Given the description of an element on the screen output the (x, y) to click on. 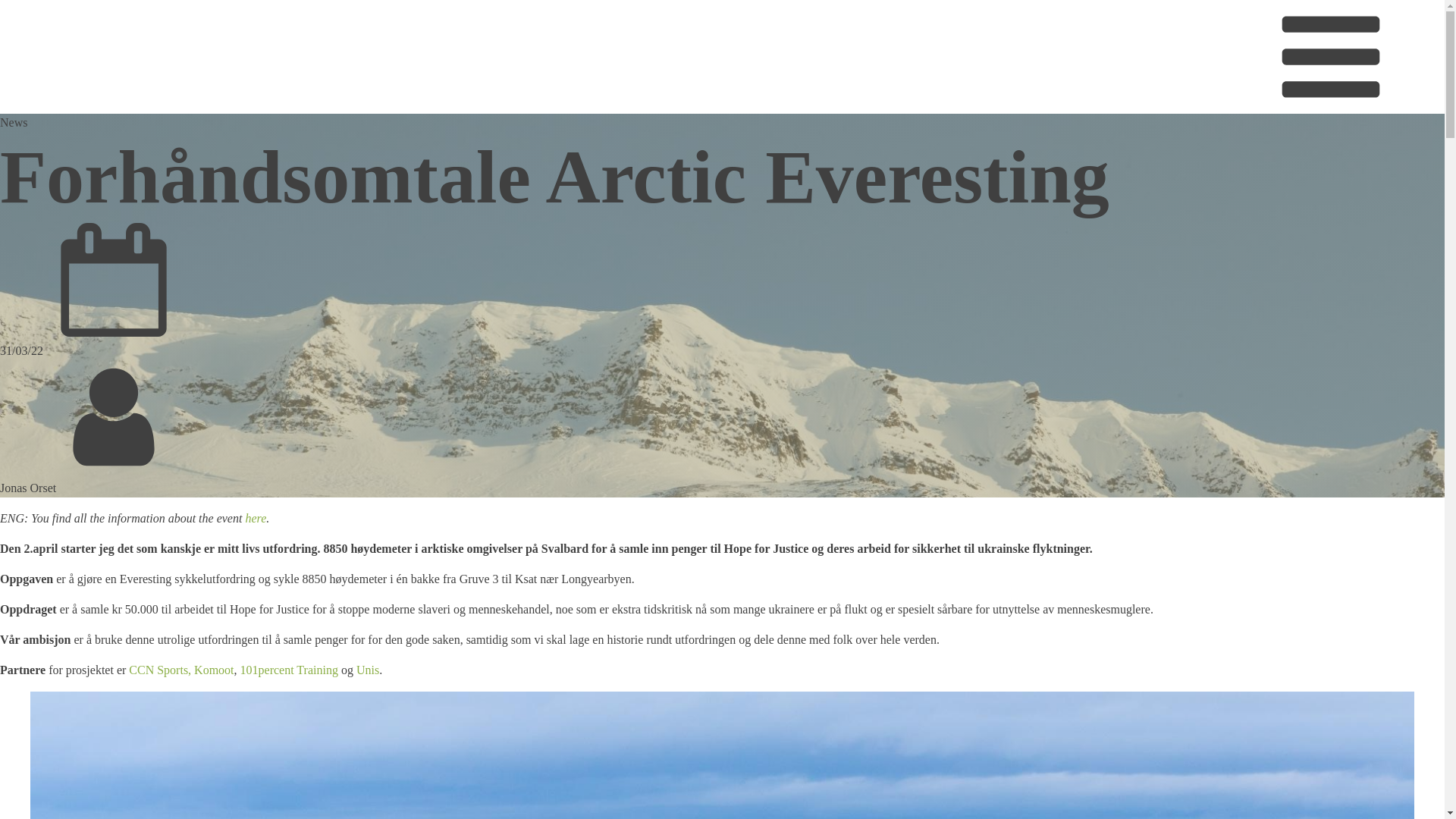
101percent Training Element type: text (289, 669)
Komoot Element type: text (213, 669)
CCN Sports, Element type: text (159, 669)
Unis Element type: text (367, 669)
here Element type: text (255, 517)
